Given the description of an element on the screen output the (x, y) to click on. 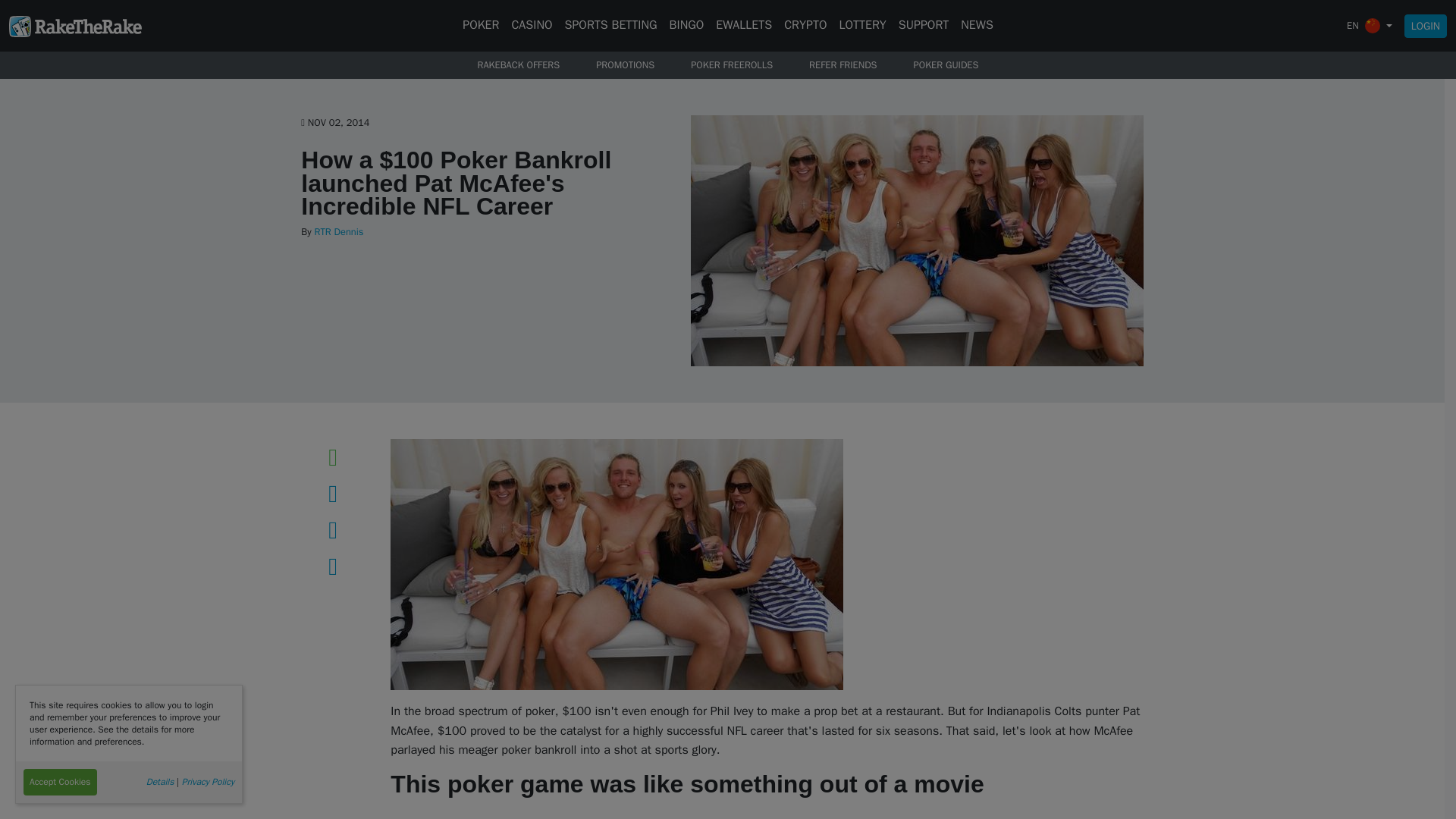
CRYPTO (804, 25)
Crypto (804, 25)
Promotions (625, 64)
eWallets (743, 25)
Sports Betting (609, 25)
CASINO (531, 25)
LOTTERY (861, 25)
Poker (481, 25)
BINGO (686, 25)
Rakeback Offers (519, 64)
